Given the description of an element on the screen output the (x, y) to click on. 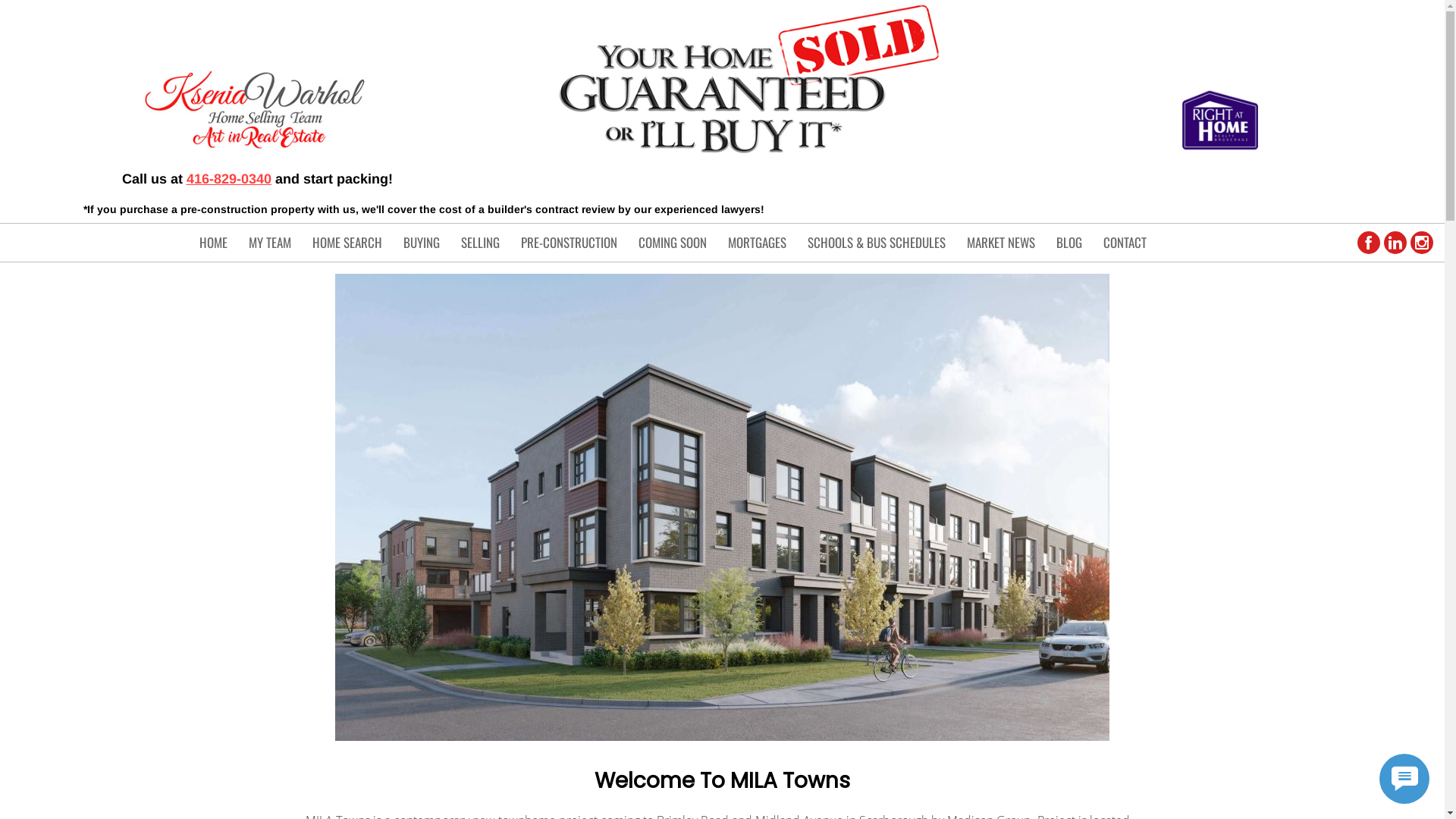
Live Chat Element type: hover (1404, 778)
CONTACT Element type: text (1124, 242)
SCHOOLS & BUS SCHEDULES Element type: text (876, 242)
Instagram Element type: hover (1421, 242)
HOME SEARCH Element type: text (346, 242)
416-829-0340 Element type: text (228, 178)
BLOG Element type: text (1068, 242)
MARKET NEWS Element type: text (1000, 242)
COMING SOON Element type: text (672, 242)
Facebook Element type: hover (1368, 242)
PRE-CONSTRUCTION Element type: text (568, 242)
HOME Element type: text (213, 242)
LinkedIn Element type: hover (1394, 242)
